Given the description of an element on the screen output the (x, y) to click on. 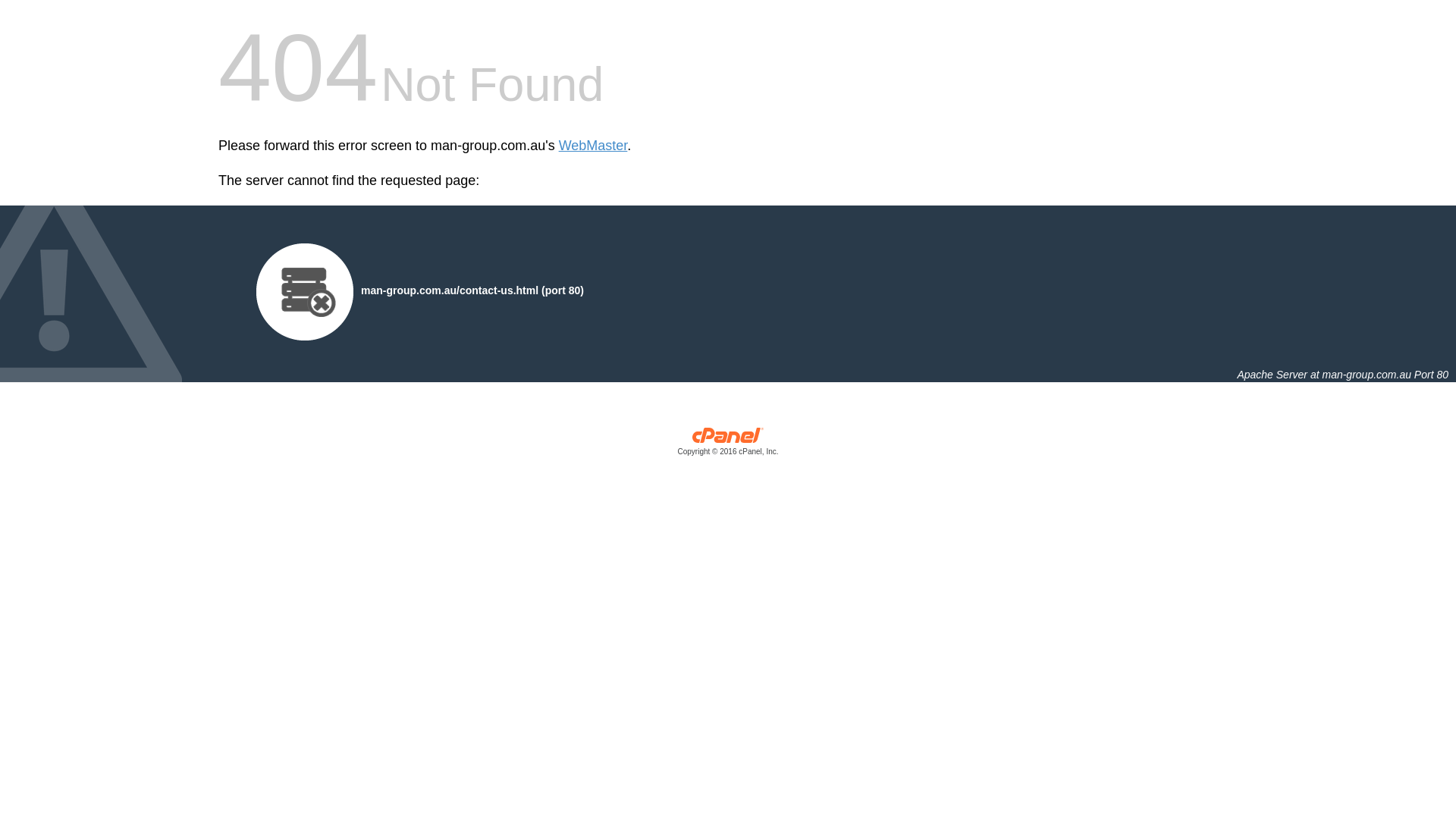
WebMaster Element type: text (592, 145)
